Given the description of an element on the screen output the (x, y) to click on. 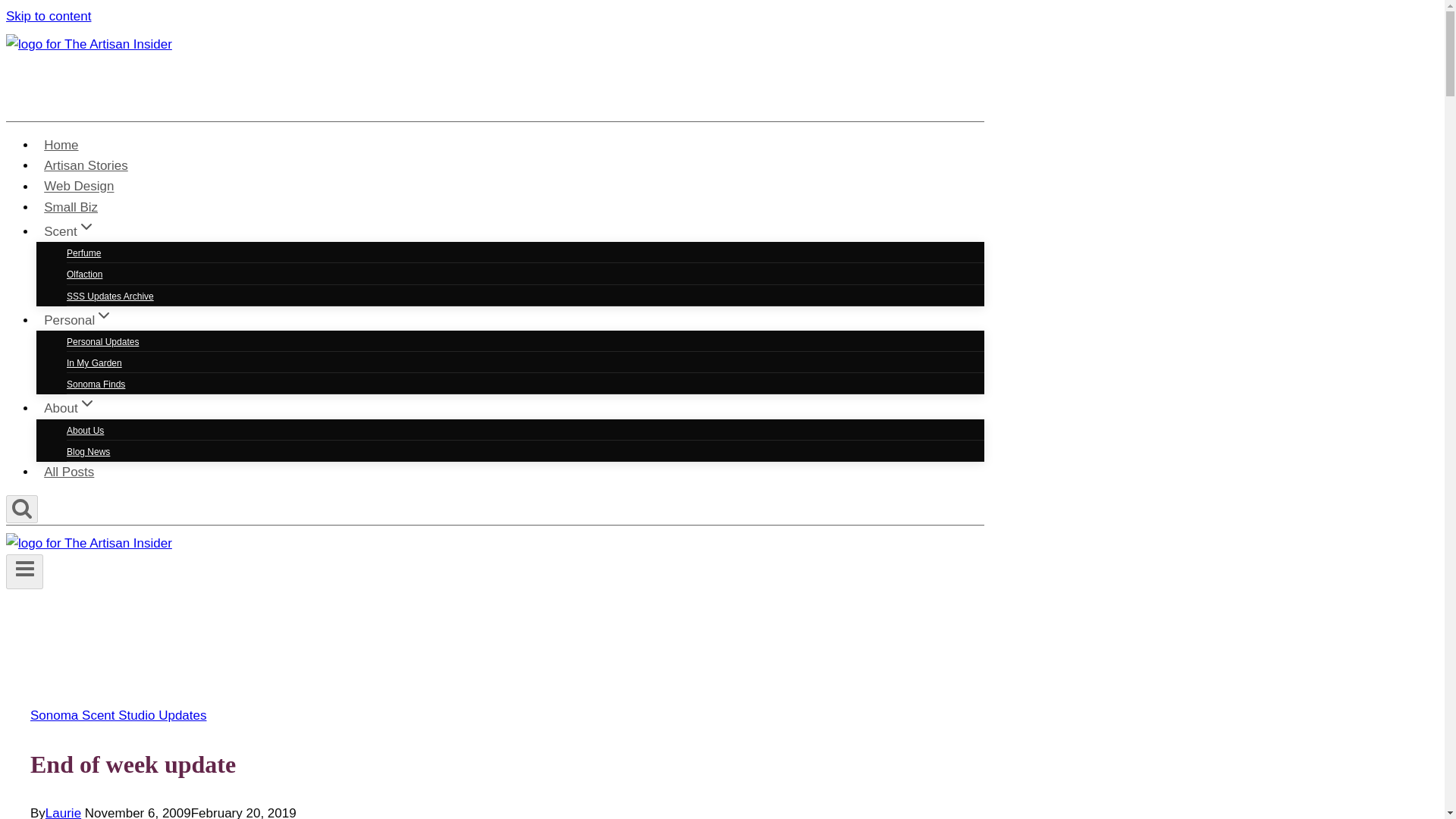
Skip to content (47, 16)
Small Biz (70, 206)
Perfume (83, 252)
In My Garden (94, 363)
ScentExpand (69, 231)
Personal Updates (102, 341)
Web Design (79, 185)
Search (21, 509)
Expand (87, 402)
Home (60, 144)
Artisan Stories (85, 165)
Olfaction (83, 274)
Expand (103, 315)
AboutExpand (69, 408)
SSS Updates Archive (110, 295)
